Given the description of an element on the screen output the (x, y) to click on. 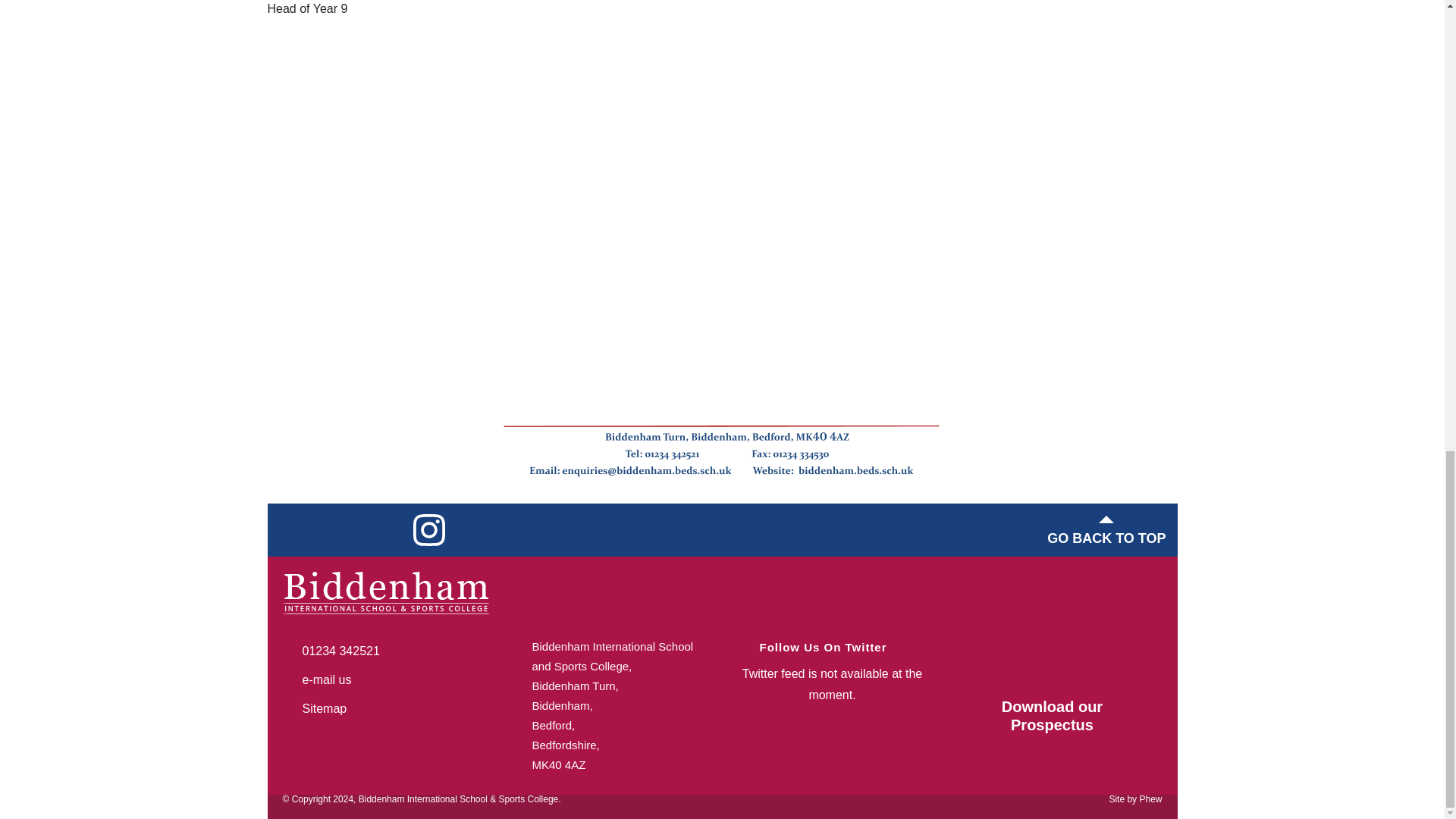
Instagram (428, 530)
Twitter (339, 530)
Youtube (384, 530)
Facebook (296, 530)
